Given the description of an element on the screen output the (x, y) to click on. 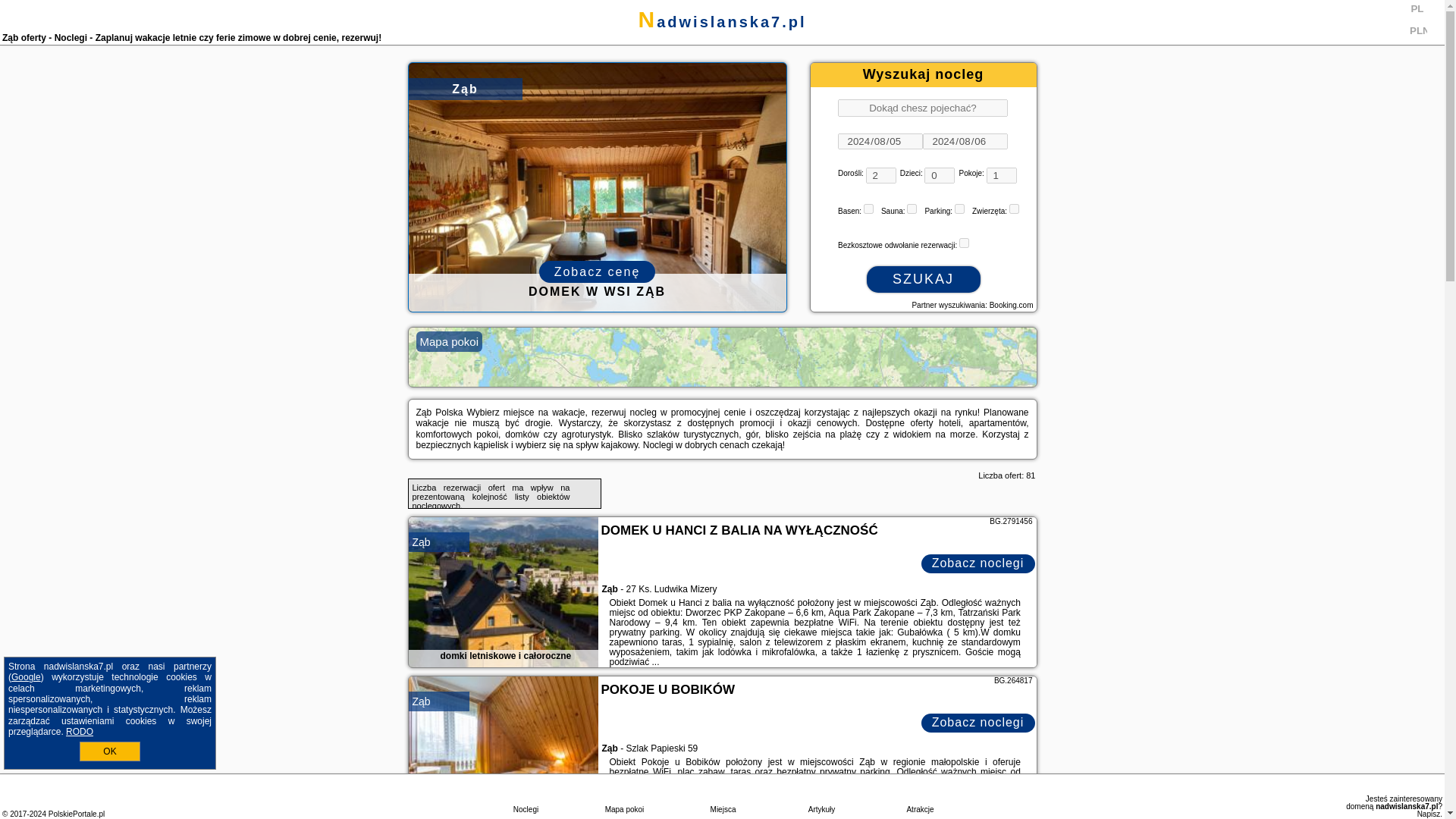
Zameldowanie (880, 141)
0 (939, 175)
Basen (868, 208)
Mapa pokoi (721, 356)
1 (1001, 175)
2024-08-06 (965, 141)
Parking (959, 208)
SZUKAJ (922, 279)
Pokoje (1001, 175)
1 (964, 243)
2024-08-05 (880, 141)
Sauna (912, 208)
1 (912, 208)
1 (868, 208)
Mapa pokoi (721, 356)
